Given the description of an element on the screen output the (x, y) to click on. 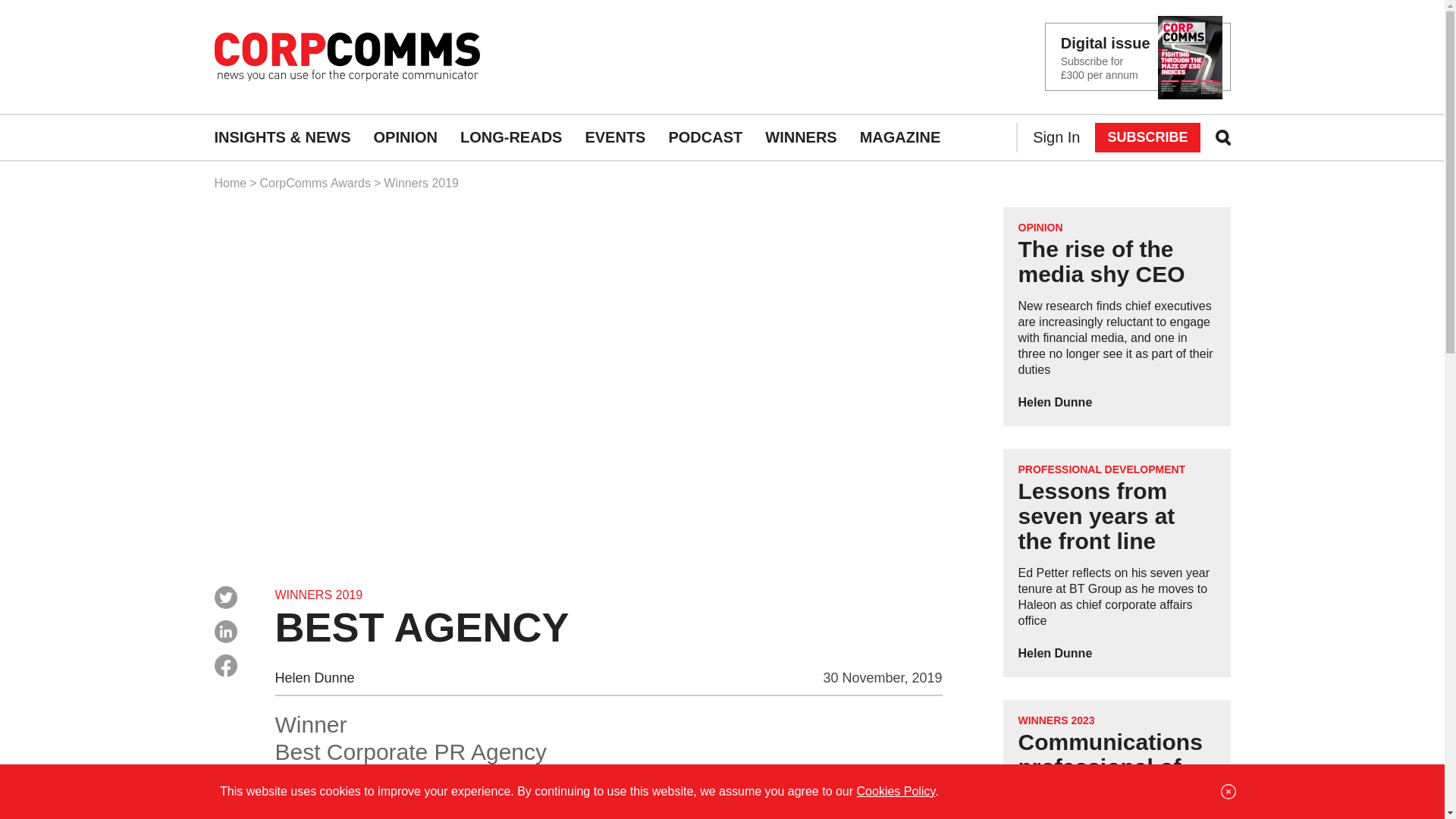
LONG-READS (511, 137)
Search (34, 15)
Sign In (1056, 137)
CorpComms Awards (315, 182)
OPINION (1039, 227)
Home (230, 182)
OPINION (406, 137)
Helen Dunne (1054, 653)
PODCAST (705, 137)
The rise of the media shy CEO (1101, 261)
